Given the description of an element on the screen output the (x, y) to click on. 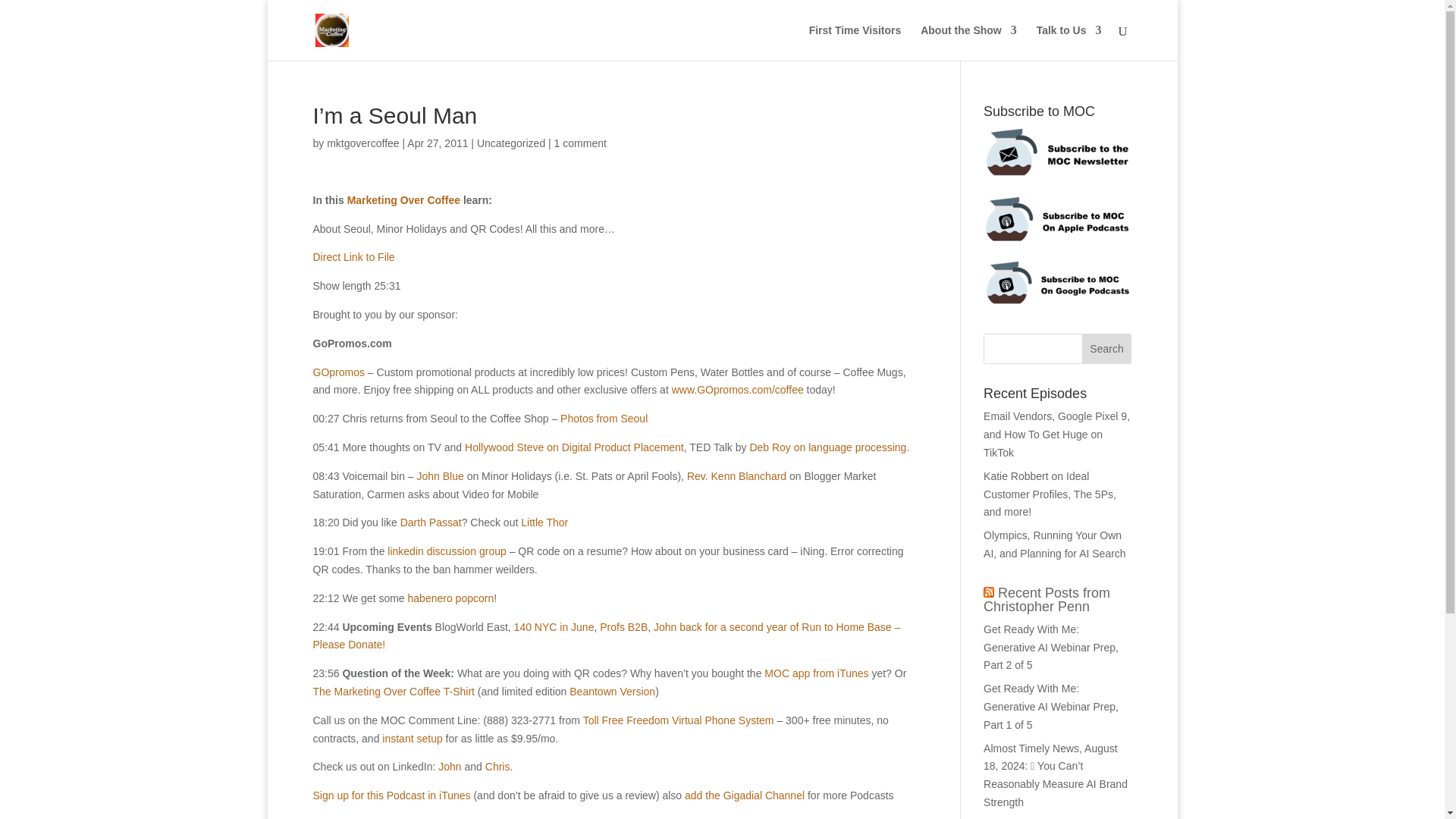
The Marketing Over Coffee T-Shirt (393, 691)
add the Gigadial Channel (744, 795)
instant setup (411, 738)
Chris (497, 766)
MOC app from iTunes (815, 673)
About the Show (968, 42)
Toll Free Freedom Virtual Phone System (678, 720)
Uncategorized (510, 143)
Beantown Version (612, 691)
Deb Roy on language processing (827, 447)
